Given the description of an element on the screen output the (x, y) to click on. 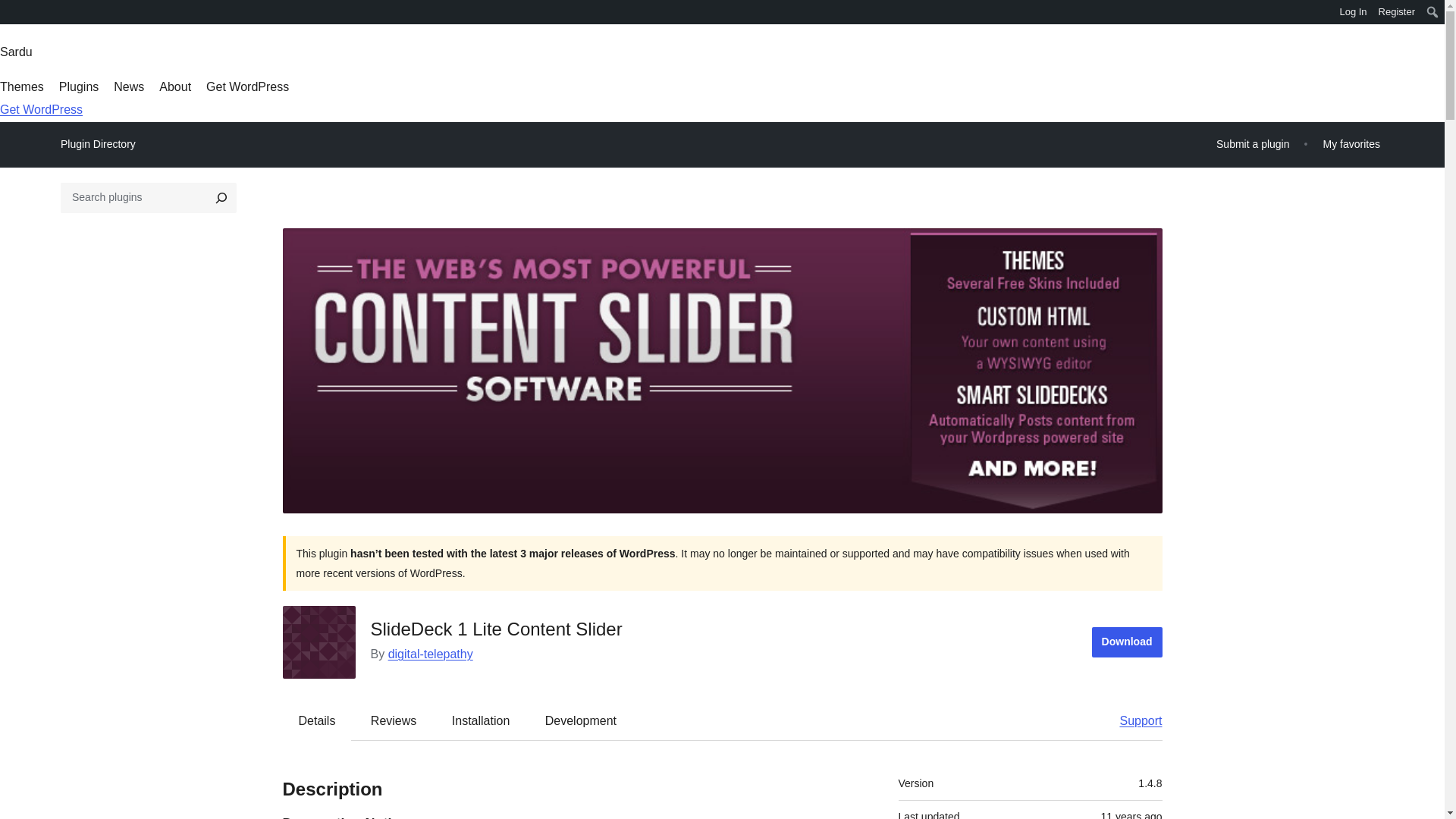
Support (1132, 720)
digital-telepathy (430, 653)
WordPress.org (10, 10)
Download (1126, 642)
Themes (21, 87)
Search (16, 13)
Get WordPress (41, 109)
Installation (480, 720)
Plugins (79, 87)
Reviews (392, 720)
Register (1397, 12)
News (128, 87)
About (174, 87)
Submit a plugin (1253, 144)
Plugin Directory (97, 143)
